Given the description of an element on the screen output the (x, y) to click on. 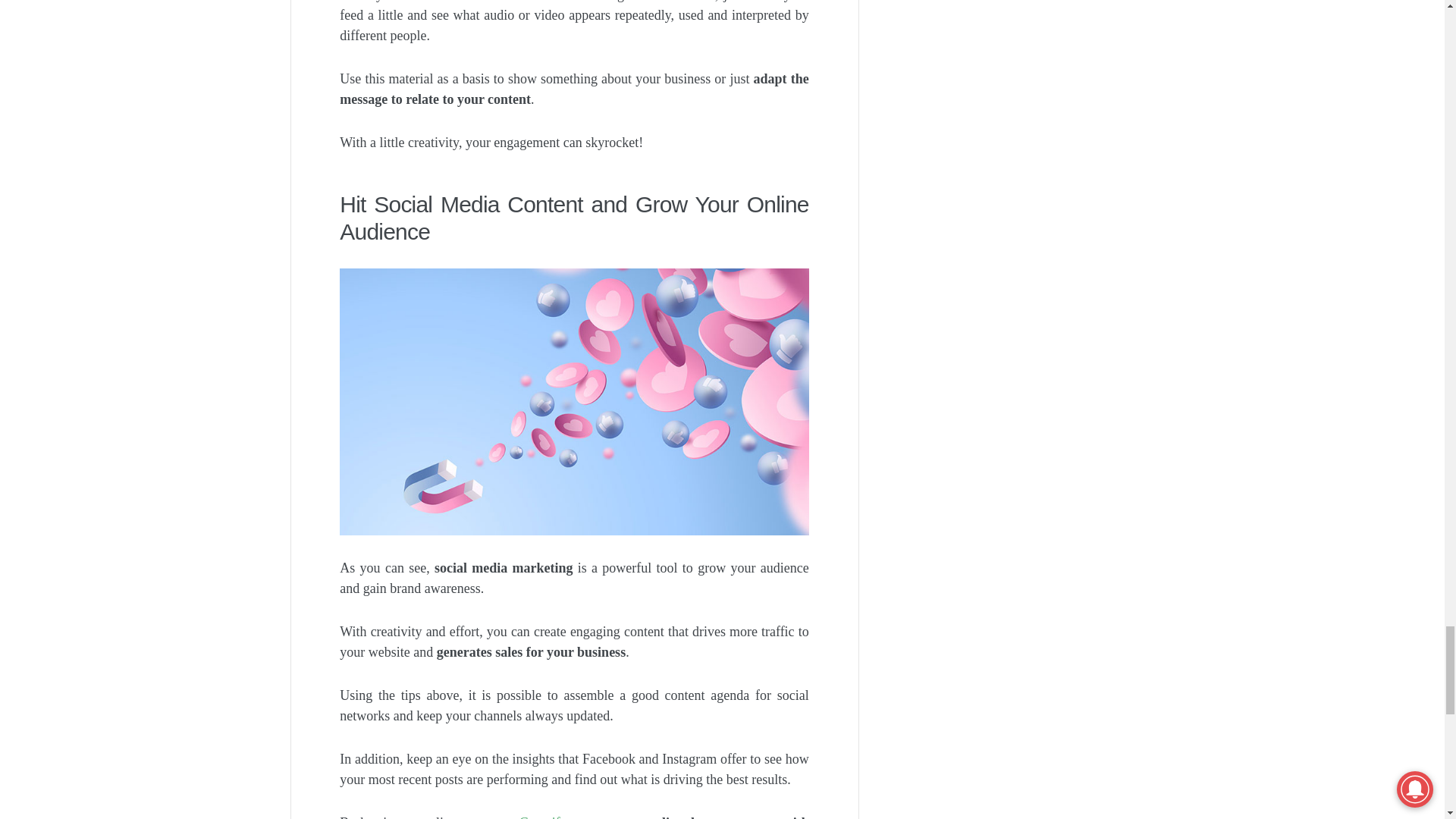
Coursify.me (552, 816)
